Given the description of an element on the screen output the (x, y) to click on. 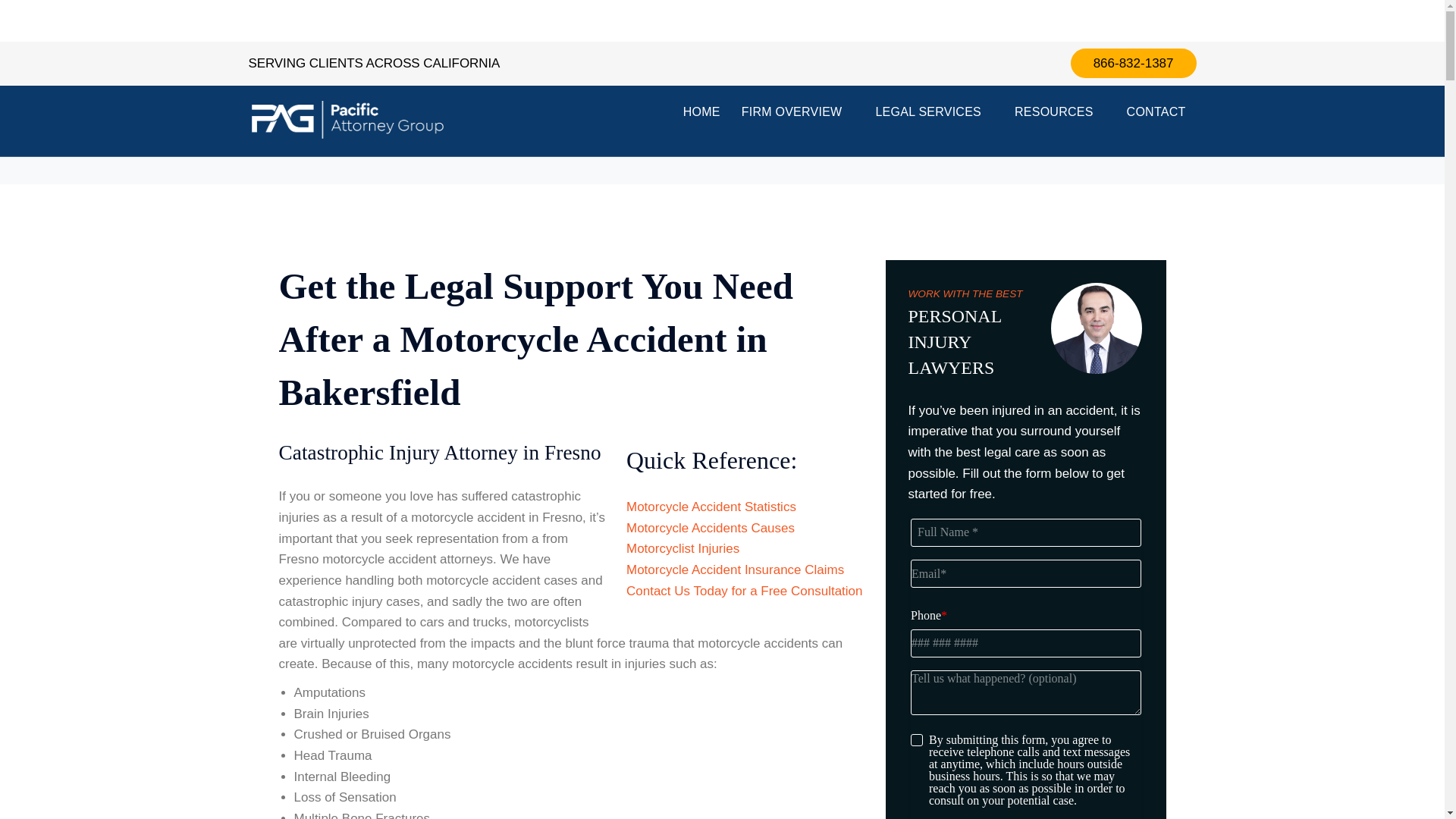
FIRM OVERVIEW (797, 112)
LEGAL SERVICES (933, 112)
Pacific Attorney Group (346, 120)
RESOURCES (1059, 112)
866-832-1387 (1133, 62)
